Given the description of an element on the screen output the (x, y) to click on. 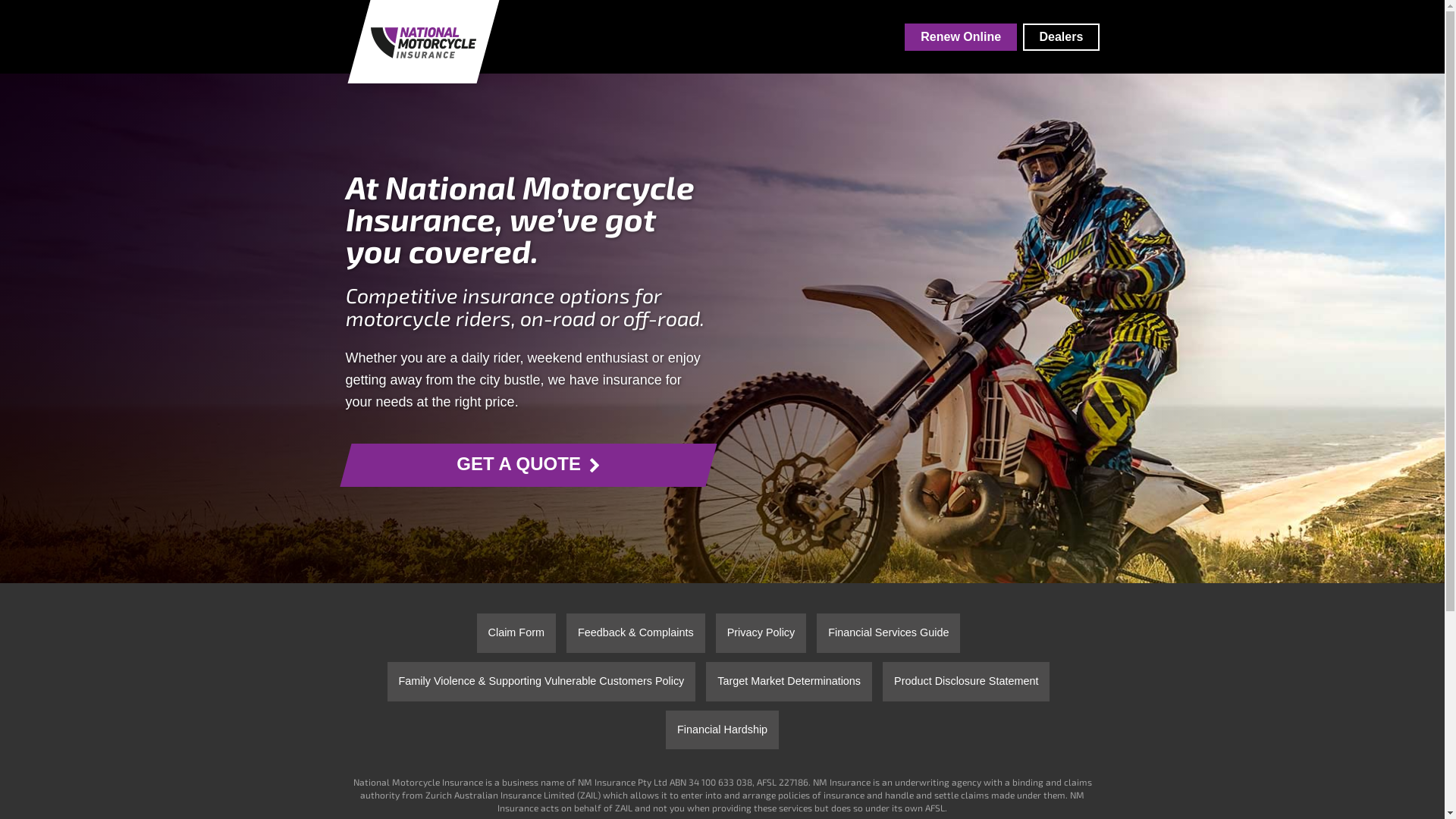
Privacy Policy Element type: text (760, 632)
Product Disclosure Statement Element type: text (965, 681)
Family Violence & Supporting Vulnerable Customers Policy Element type: text (541, 681)
Claim Form Element type: text (515, 632)
Financial Services Guide Element type: text (888, 632)
Financial Hardship Element type: text (721, 729)
Target Market Determinations Element type: text (789, 681)
Dealers Element type: text (1060, 36)
Renew Online Element type: text (960, 36)
GET A QUOTE Element type: text (522, 464)
Feedback & Complaints Element type: text (635, 632)
